Given the description of an element on the screen output the (x, y) to click on. 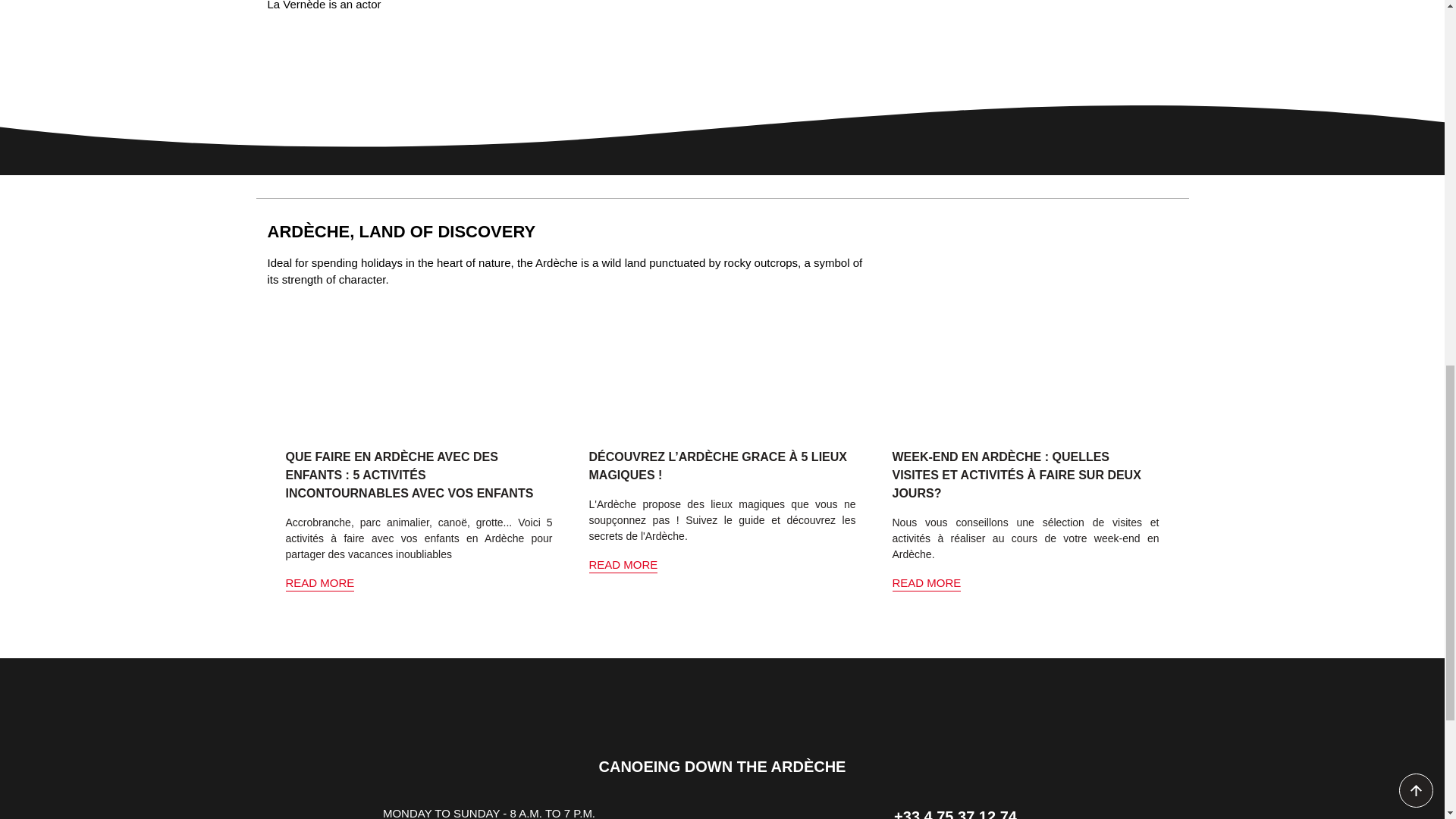
READ MORE (623, 563)
READ MORE (925, 582)
READ MORE (319, 582)
